Given the description of an element on the screen output the (x, y) to click on. 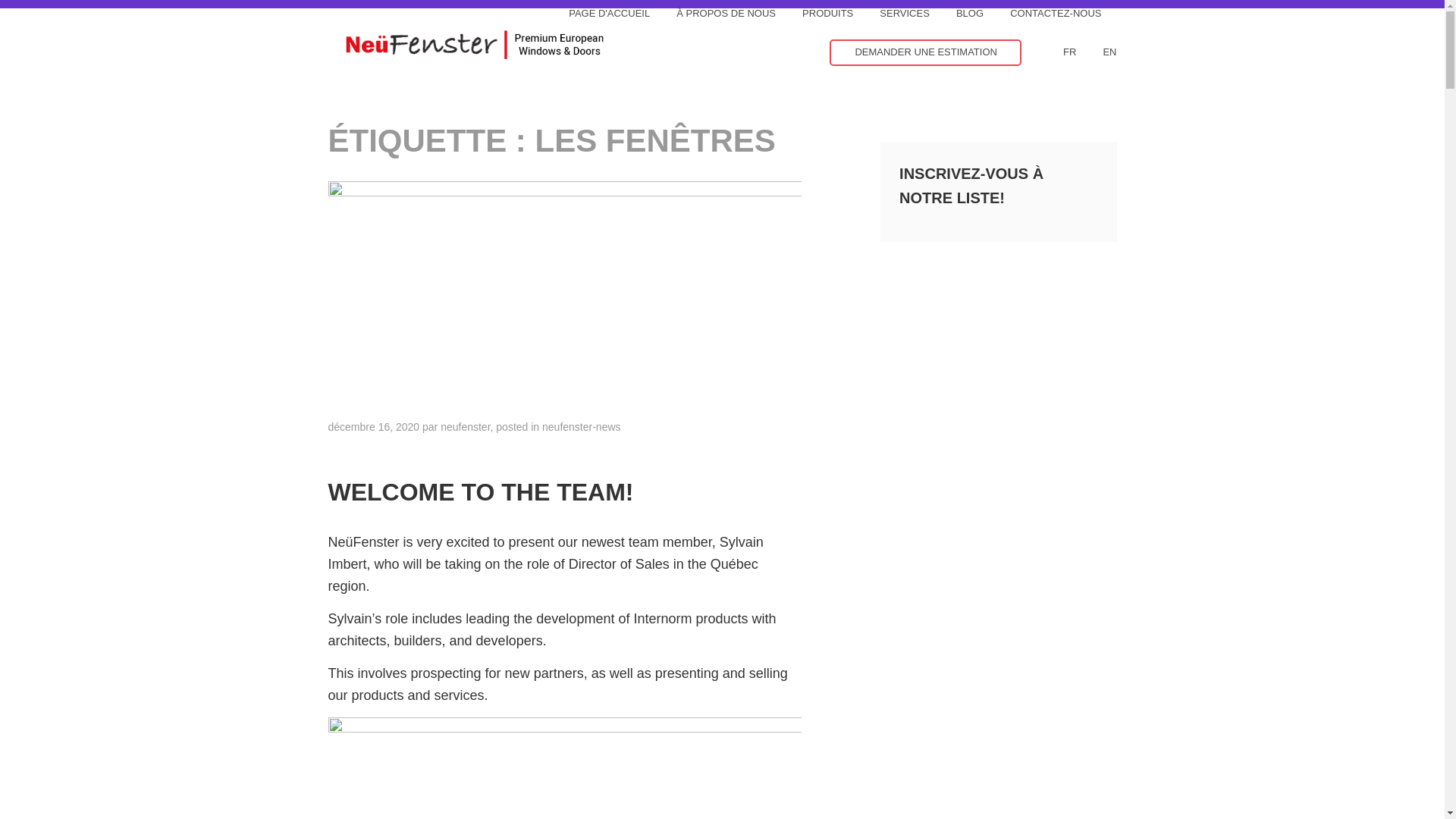
BLOG (958, 13)
FR (1058, 53)
EN (1097, 53)
CONTACTEZ-NOUS (1044, 13)
SERVICES (893, 13)
PAGE D'ACCUEIL (596, 13)
neufenster (465, 426)
PRODUITS (815, 13)
neufenster-news (581, 426)
DEMANDER UNE ESTIMATION (925, 52)
